Given the description of an element on the screen output the (x, y) to click on. 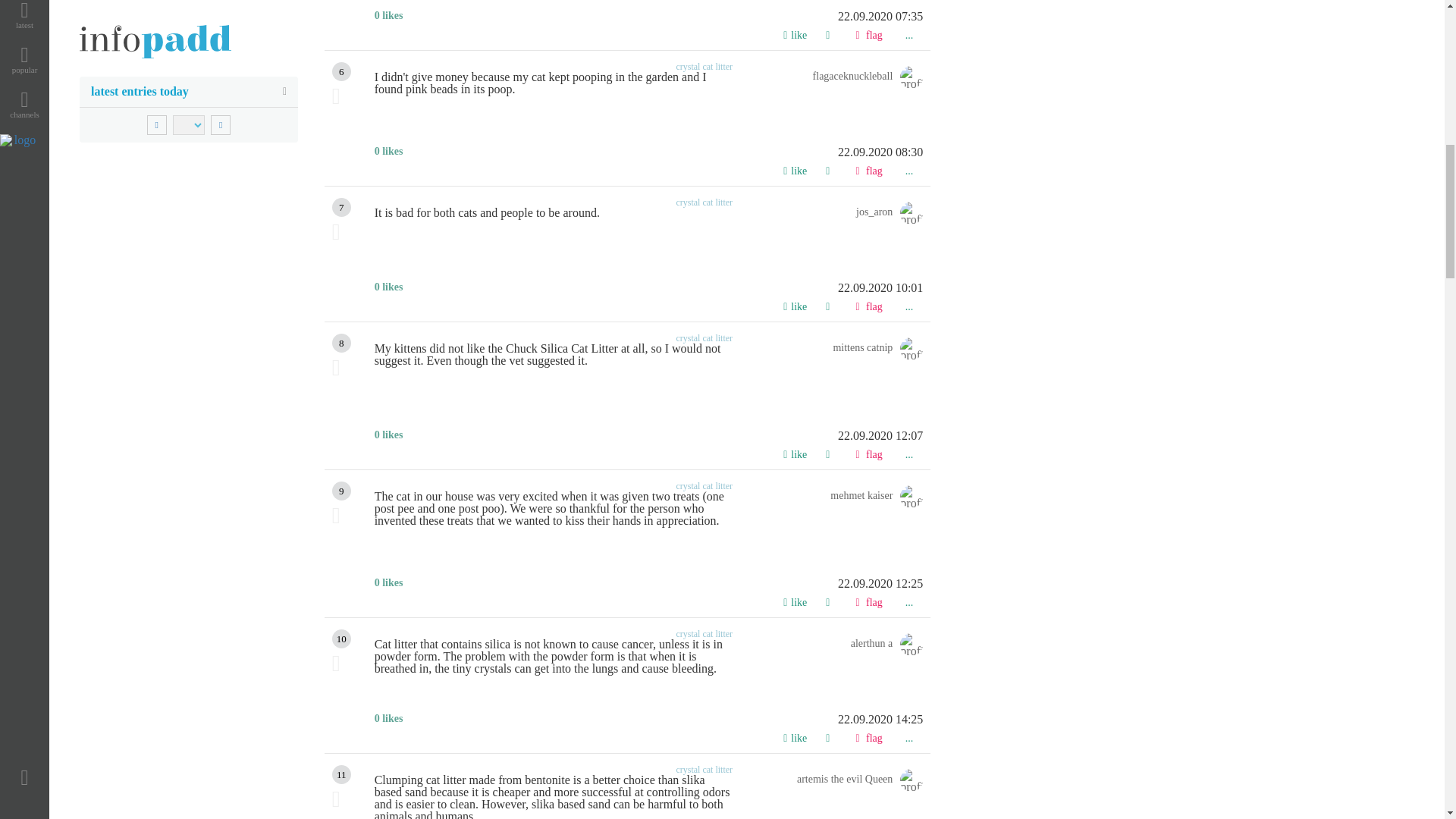
22.09.2020 14:25 (648, 719)
22.09.2020 07:35 (648, 16)
22.09.2020 12:25 (648, 583)
22.09.2020 10:01 (648, 287)
22.09.2020 08:30 (648, 152)
22.09.2020 12:07 (648, 435)
